Given the description of an element on the screen output the (x, y) to click on. 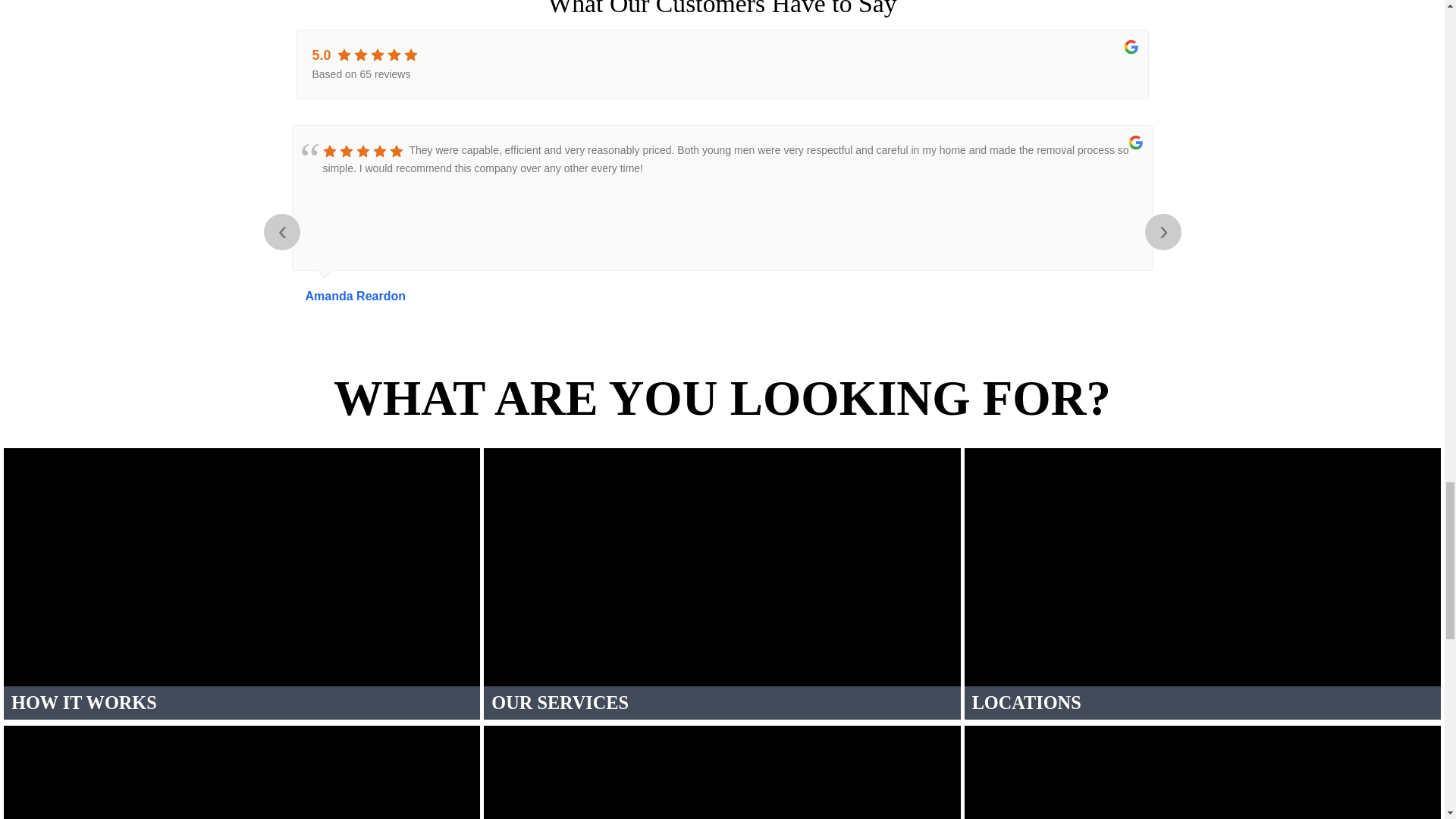
Amanda Reardon (721, 296)
